Given the description of an element on the screen output the (x, y) to click on. 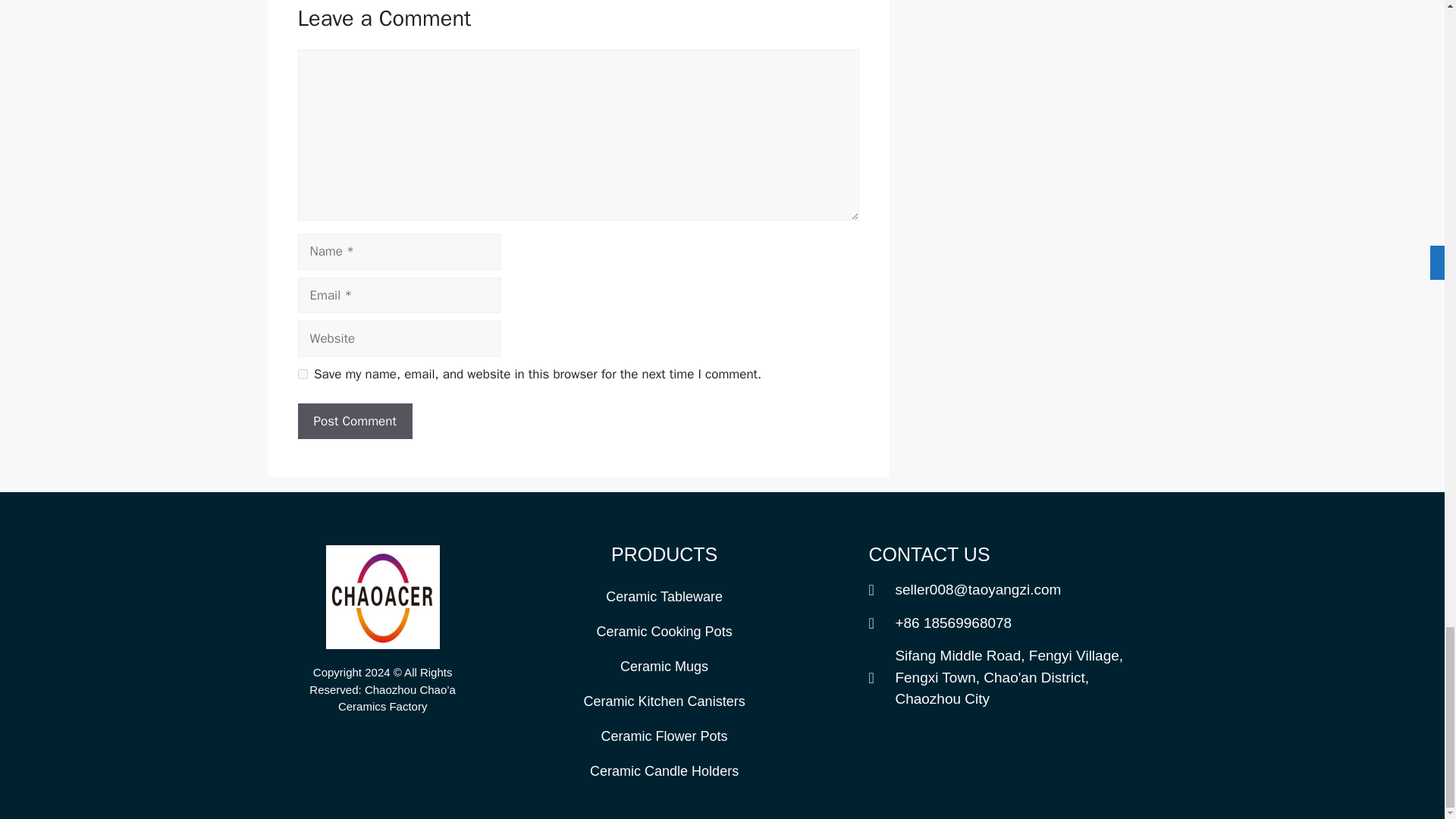
Post Comment (354, 421)
yes (302, 374)
